Given the description of an element on the screen output the (x, y) to click on. 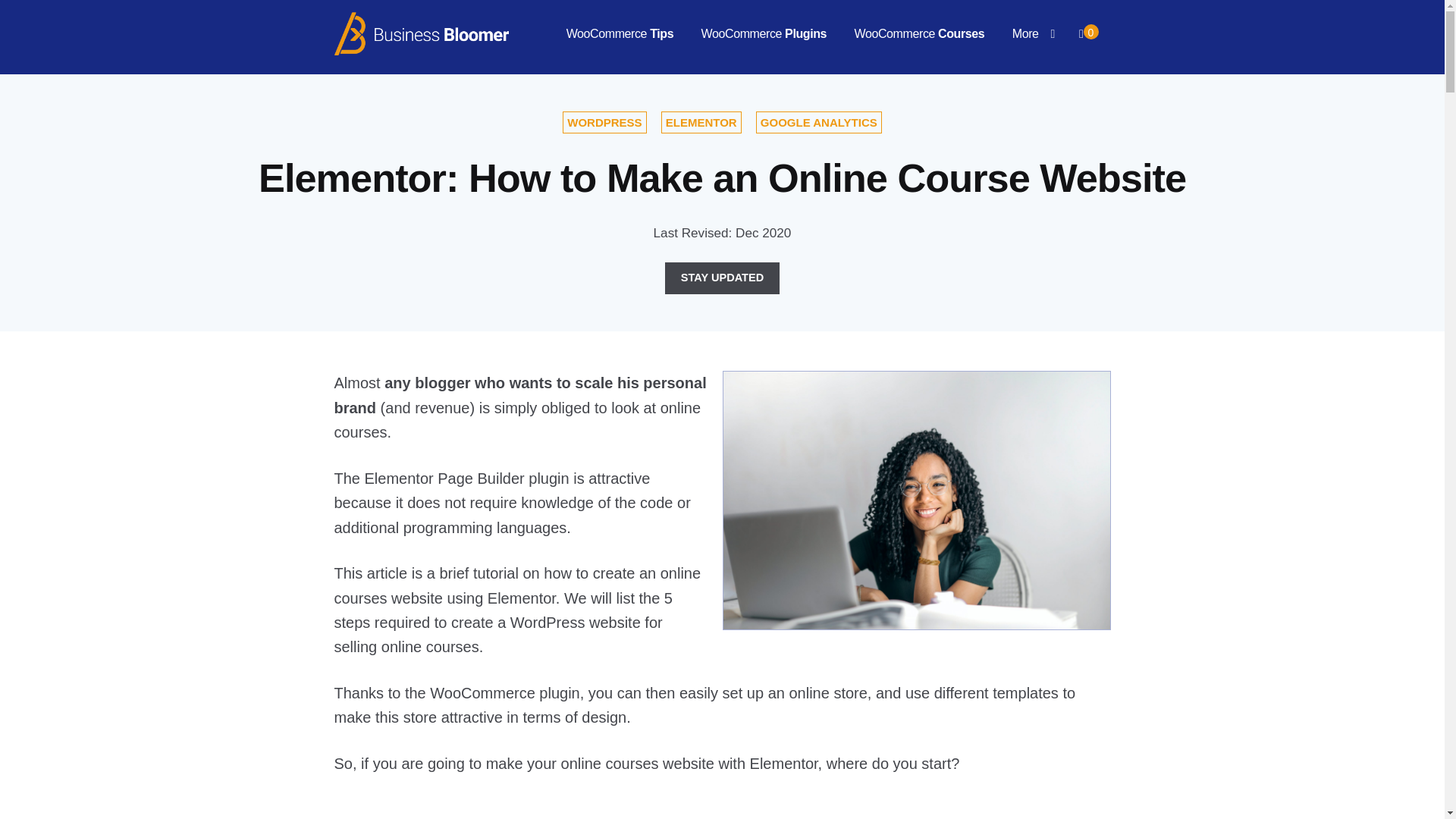
0 (1088, 31)
WORDPRESS (604, 122)
WooCommerce Tips (619, 34)
WooCommerce Plugins (763, 34)
STAY UPDATED (721, 278)
Checkout (1088, 31)
ELEMENTOR (701, 122)
GOOGLE ANALYTICS (818, 122)
More (1033, 34)
WooCommerce Courses (920, 34)
